Given the description of an element on the screen output the (x, y) to click on. 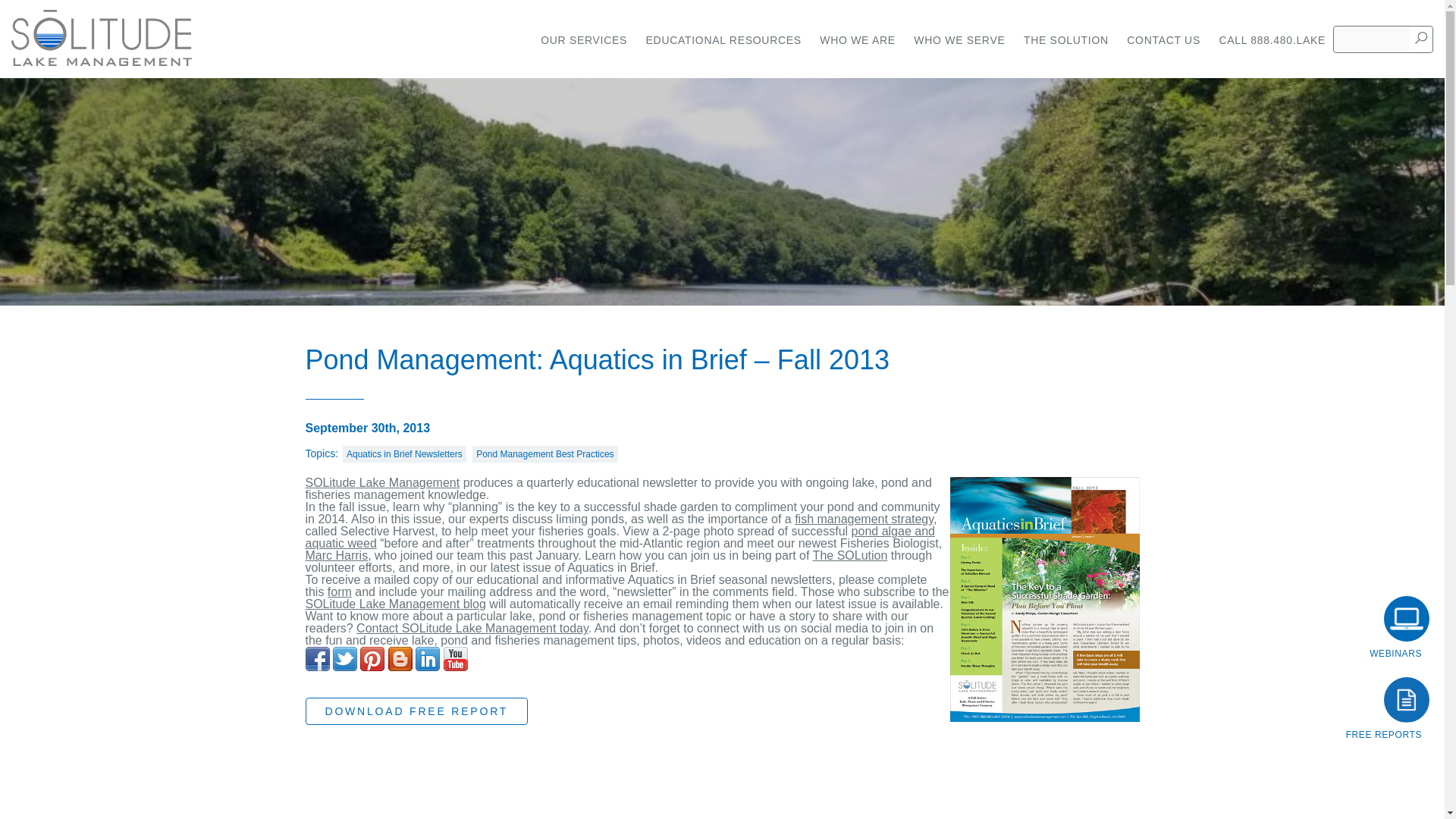
Contact us today (472, 627)
WHO WE SERVE (958, 39)
THE SOLUTION (1066, 39)
SOLitude Lake Management (382, 481)
form (339, 591)
OUR SERVICES (583, 39)
WHO WE ARE (857, 39)
EDUCATIONAL RESOURCES (724, 39)
SOLitude Lake Management blog (394, 603)
Marc Harris (336, 554)
